Given the description of an element on the screen output the (x, y) to click on. 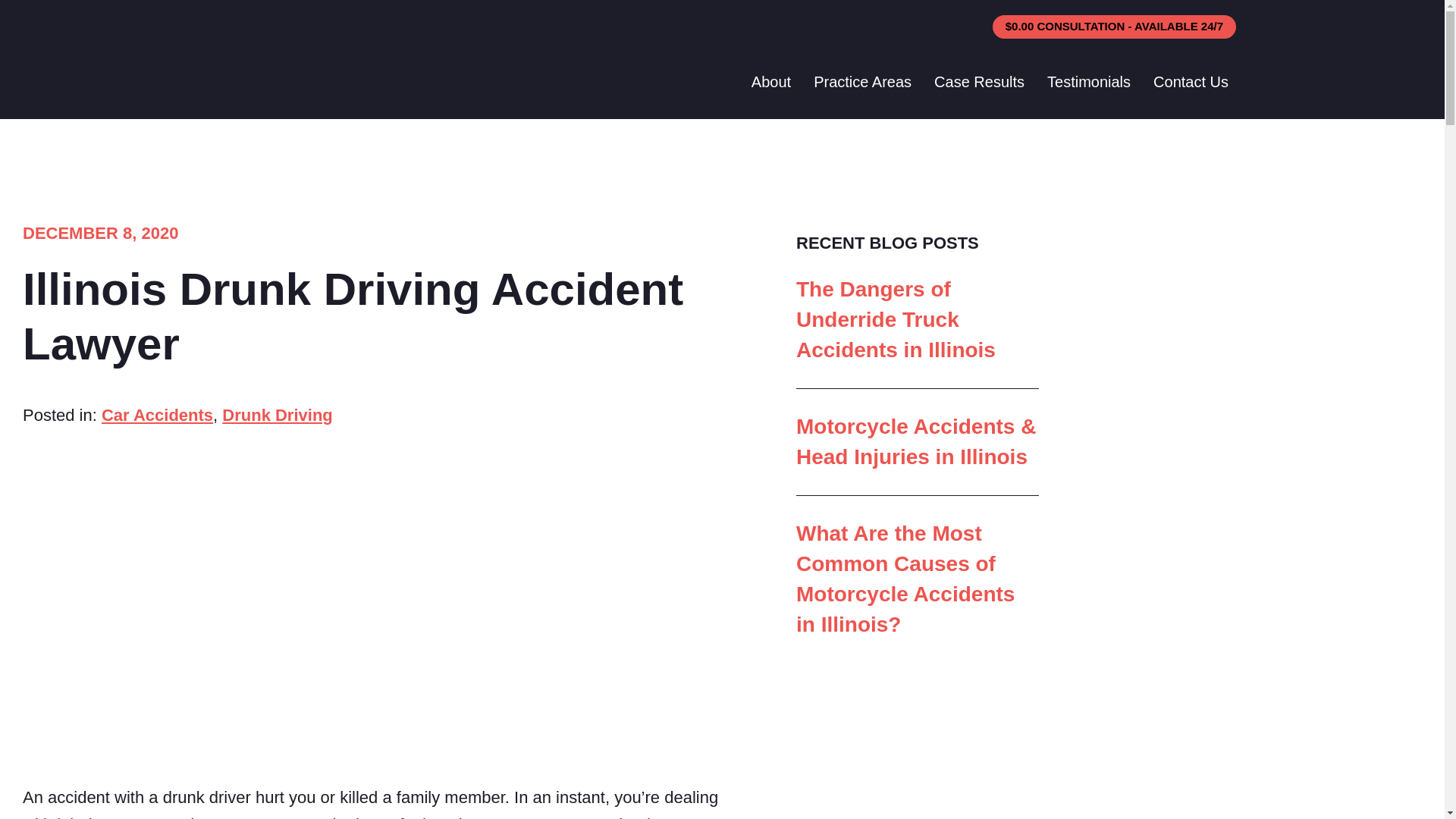
Drunk Driving (276, 415)
Testimonials (1088, 81)
Case Results (979, 81)
The Dangers of Underride Truck Accidents in Illinois (895, 319)
About (770, 81)
Contact Us (1190, 81)
Practice Areas (862, 81)
Car Accidents (156, 415)
